Given the description of an element on the screen output the (x, y) to click on. 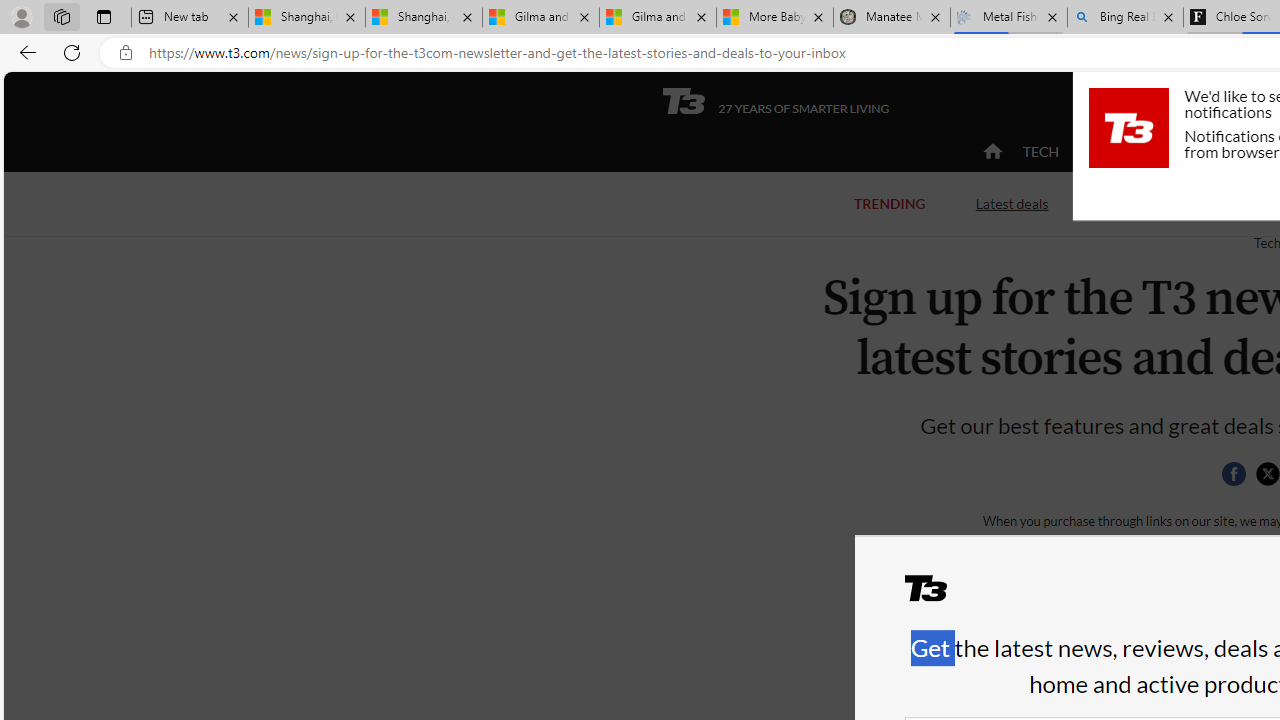
Share this page on Facebook (1233, 474)
home (992, 152)
Class: navigation__item (990, 151)
Latest deals (1011, 202)
T3 27 YEARS OF SMARTER LIVING (775, 101)
Shanghai, China weather forecast | Microsoft Weather (424, 17)
T3 (937, 595)
TECH (1040, 151)
